Given the description of an element on the screen output the (x, y) to click on. 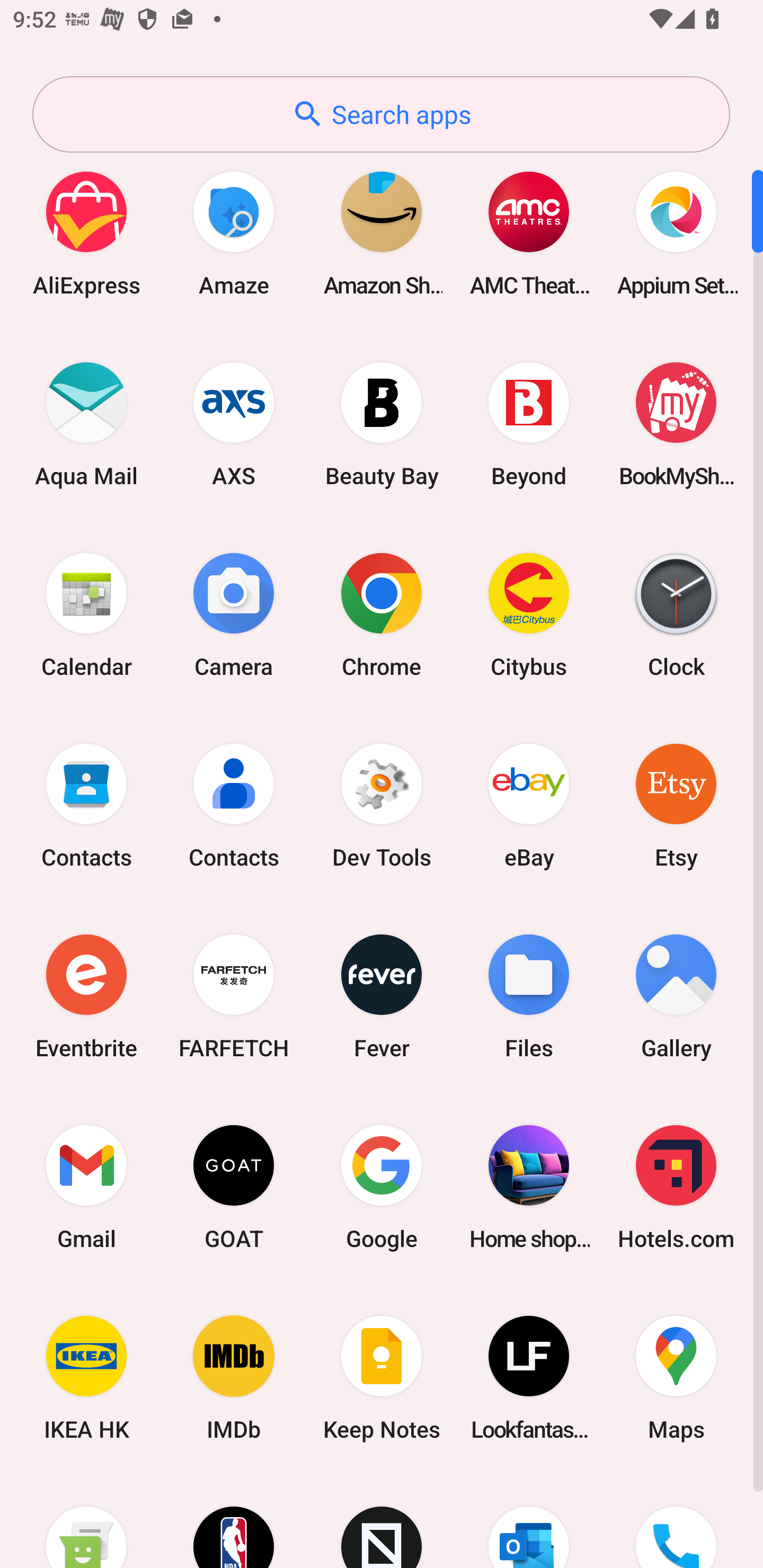
  Search apps (381, 114)
AliExpress (86, 233)
Amaze (233, 233)
Amazon Shopping (381, 233)
AMC Theatres (528, 233)
Appium Settings (676, 233)
Aqua Mail (86, 424)
AXS (233, 424)
Beauty Bay (381, 424)
Beyond (528, 424)
BookMyShow (676, 424)
Calendar (86, 614)
Camera (233, 614)
Chrome (381, 614)
Citybus (528, 614)
Clock (676, 614)
Contacts (86, 805)
Contacts (233, 805)
Dev Tools (381, 805)
eBay (528, 805)
Etsy (676, 805)
Eventbrite (86, 996)
FARFETCH (233, 996)
Fever (381, 996)
Files (528, 996)
Gallery (676, 996)
Gmail (86, 1186)
GOAT (233, 1186)
Google (381, 1186)
Home shopping (528, 1186)
Hotels.com (676, 1186)
IKEA HK (86, 1377)
IMDb (233, 1377)
Keep Notes (381, 1377)
Lookfantastic (528, 1377)
Maps (676, 1377)
